Given the description of an element on the screen output the (x, y) to click on. 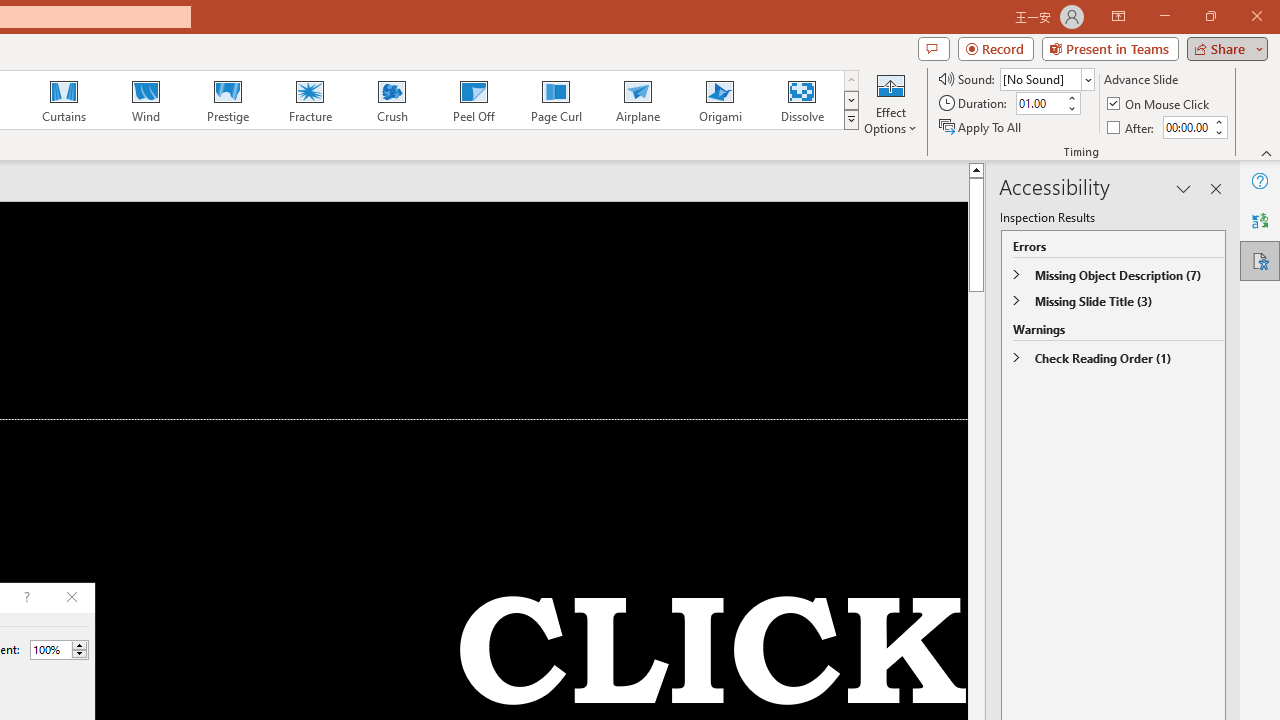
Apply To All (981, 126)
Airplane (637, 100)
Percent (59, 650)
Duration (1039, 103)
Prestige (227, 100)
